Given the description of an element on the screen output the (x, y) to click on. 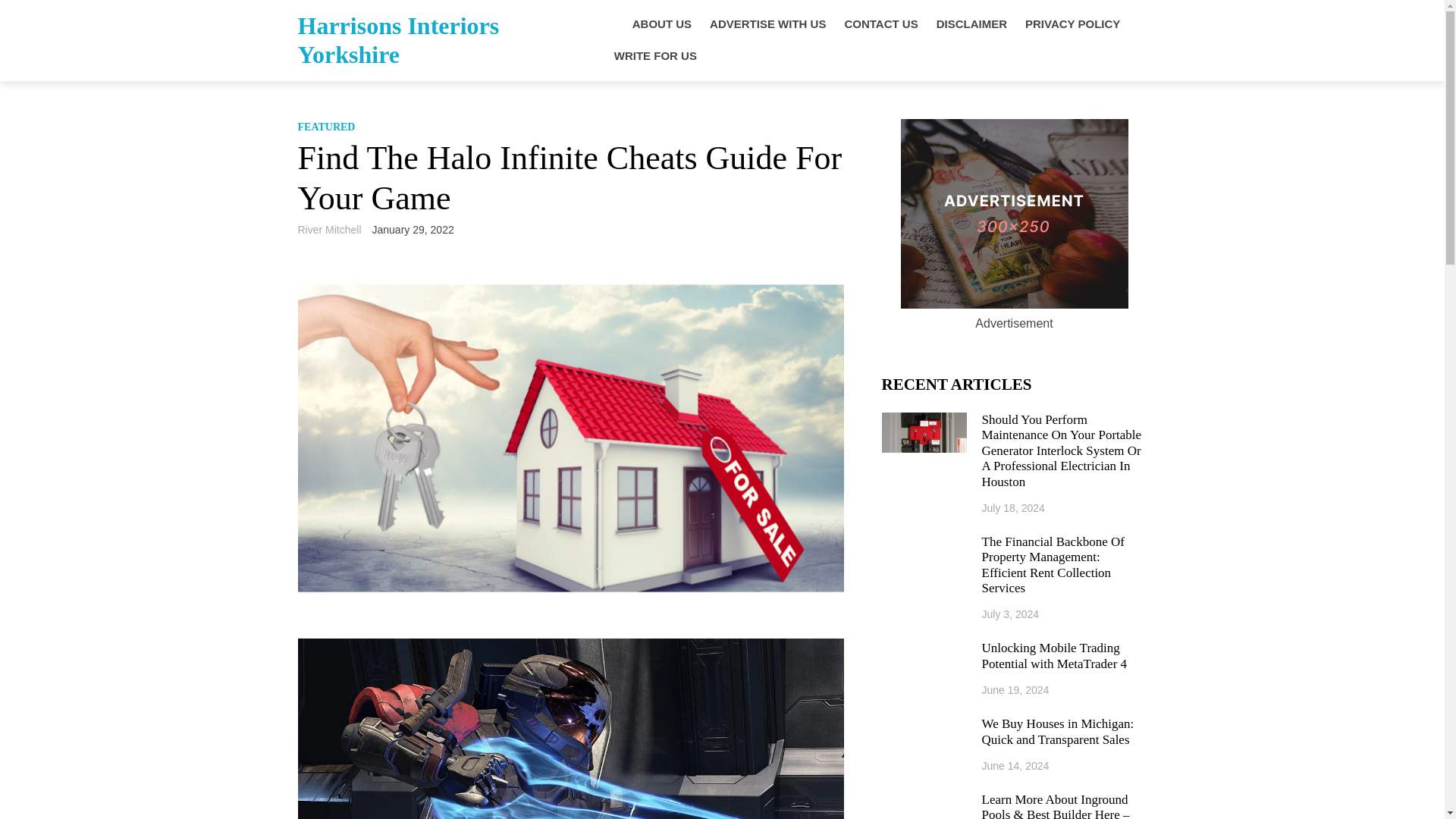
Unlocking Mobile Trading Potential with MetaTrader 4 (1064, 655)
June 14, 2024 (1015, 766)
CONTACT US (880, 24)
PRIVACY POLICY (1072, 24)
June 19, 2024 (1015, 689)
ABOUT US (661, 24)
July 18, 2024 (1013, 508)
ADVERTISE WITH US (767, 24)
WRITE FOR US (655, 56)
July 3, 2024 (1010, 613)
DISCLAIMER (971, 24)
FEATURED (326, 126)
Harrisons Interiors Yorkshire (398, 39)
